Given the description of an element on the screen output the (x, y) to click on. 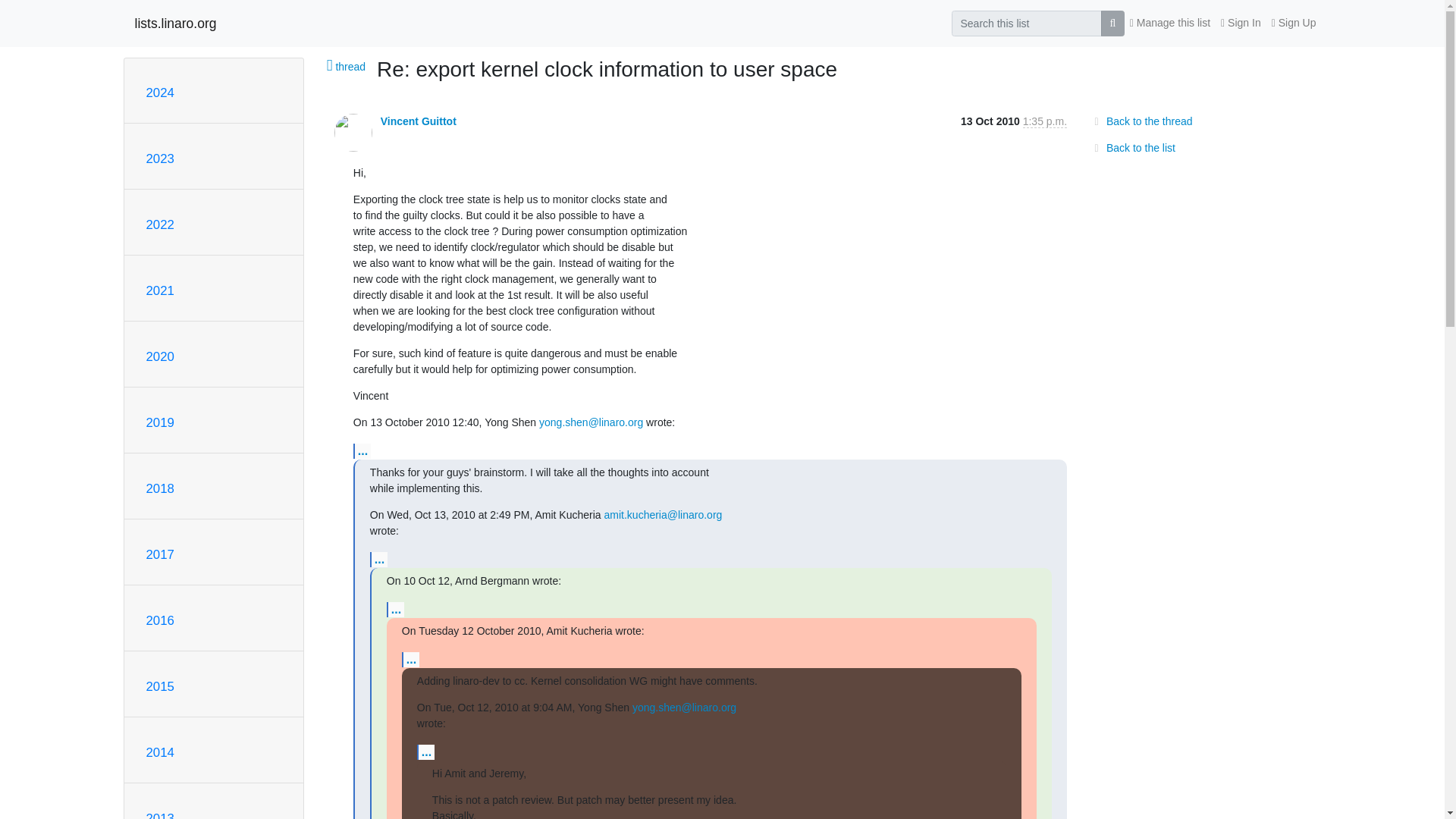
2024 (159, 92)
Sign Up (1294, 22)
Sender's time: Oct. 13, 2010, 3:35 p.m. (1045, 121)
See the profile for Vincent Guittot (418, 121)
lists.linaro.org (175, 22)
Sign In (1240, 22)
Manage this list (1169, 22)
2022 (159, 224)
2023 (159, 158)
